Given the description of an element on the screen output the (x, y) to click on. 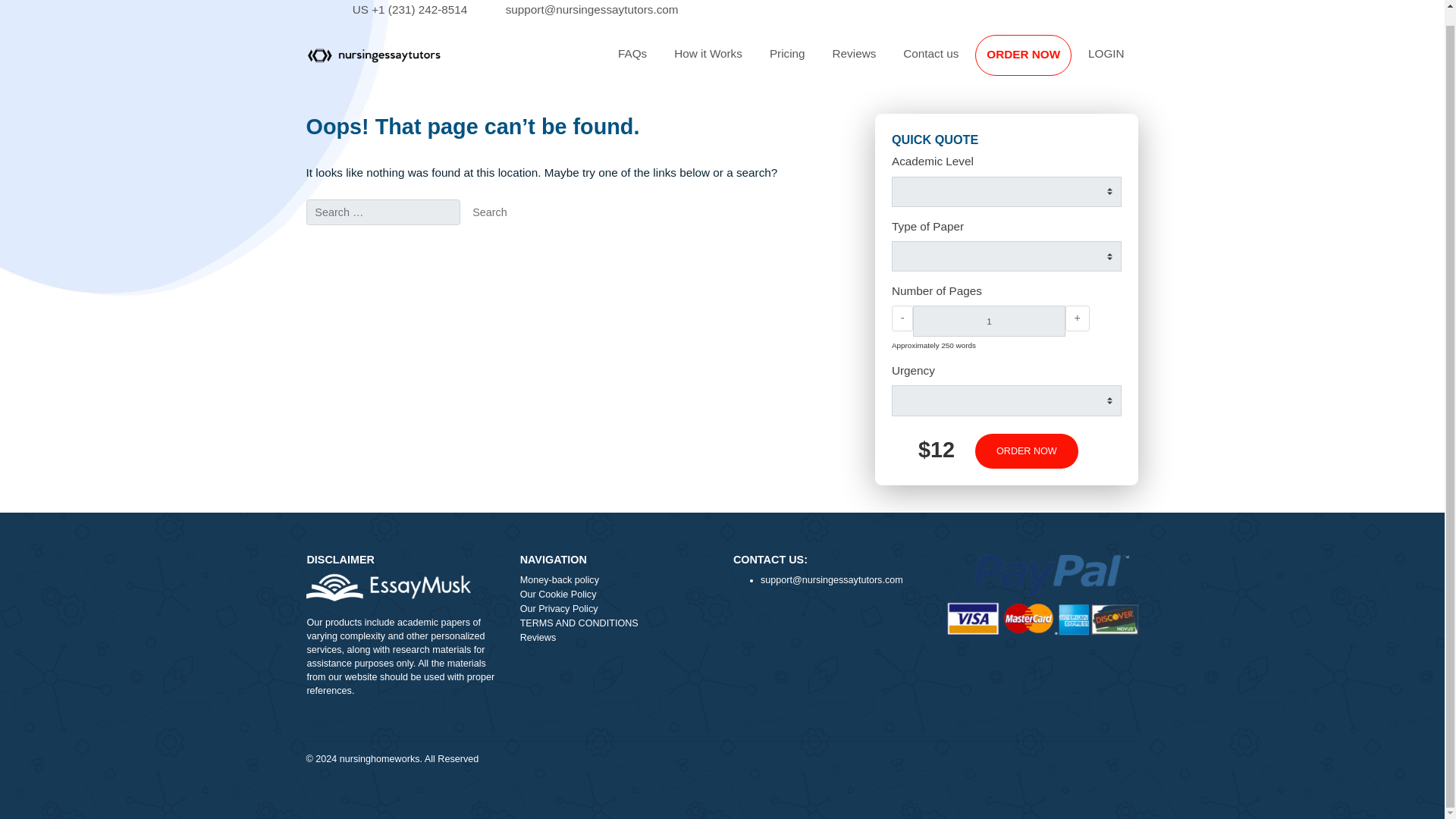
LOGIN (1229, 61)
FAQs (702, 61)
ORDER NOW (1137, 62)
Reviews (948, 61)
LOGIN (1229, 61)
FAQs (702, 61)
Contact us (1034, 61)
Contact us (1034, 61)
Pricing (875, 61)
Money-back policy (685, 647)
